Given the description of an element on the screen output the (x, y) to click on. 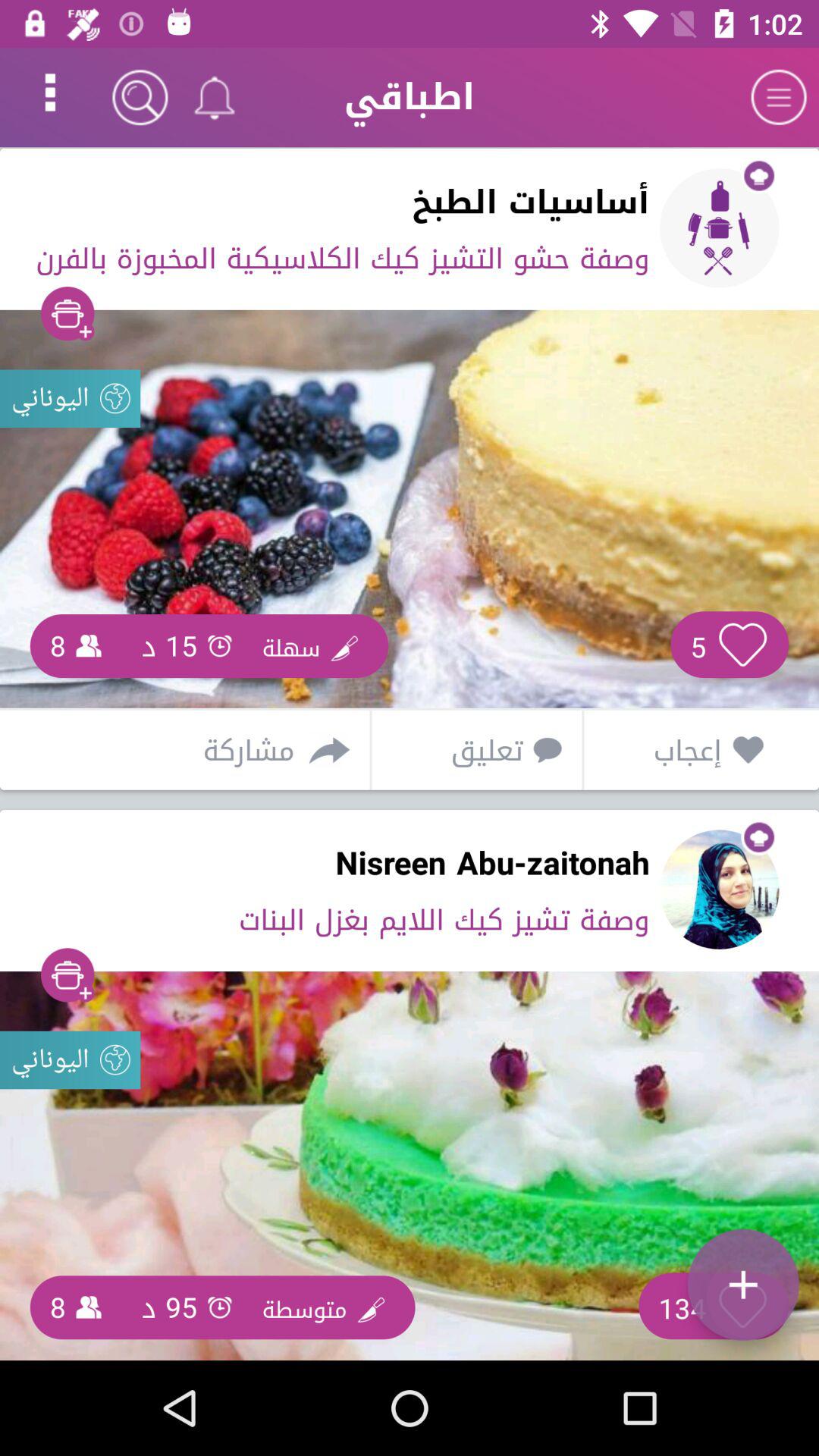
select the item above 8 item (70, 1060)
